Given the description of an element on the screen output the (x, y) to click on. 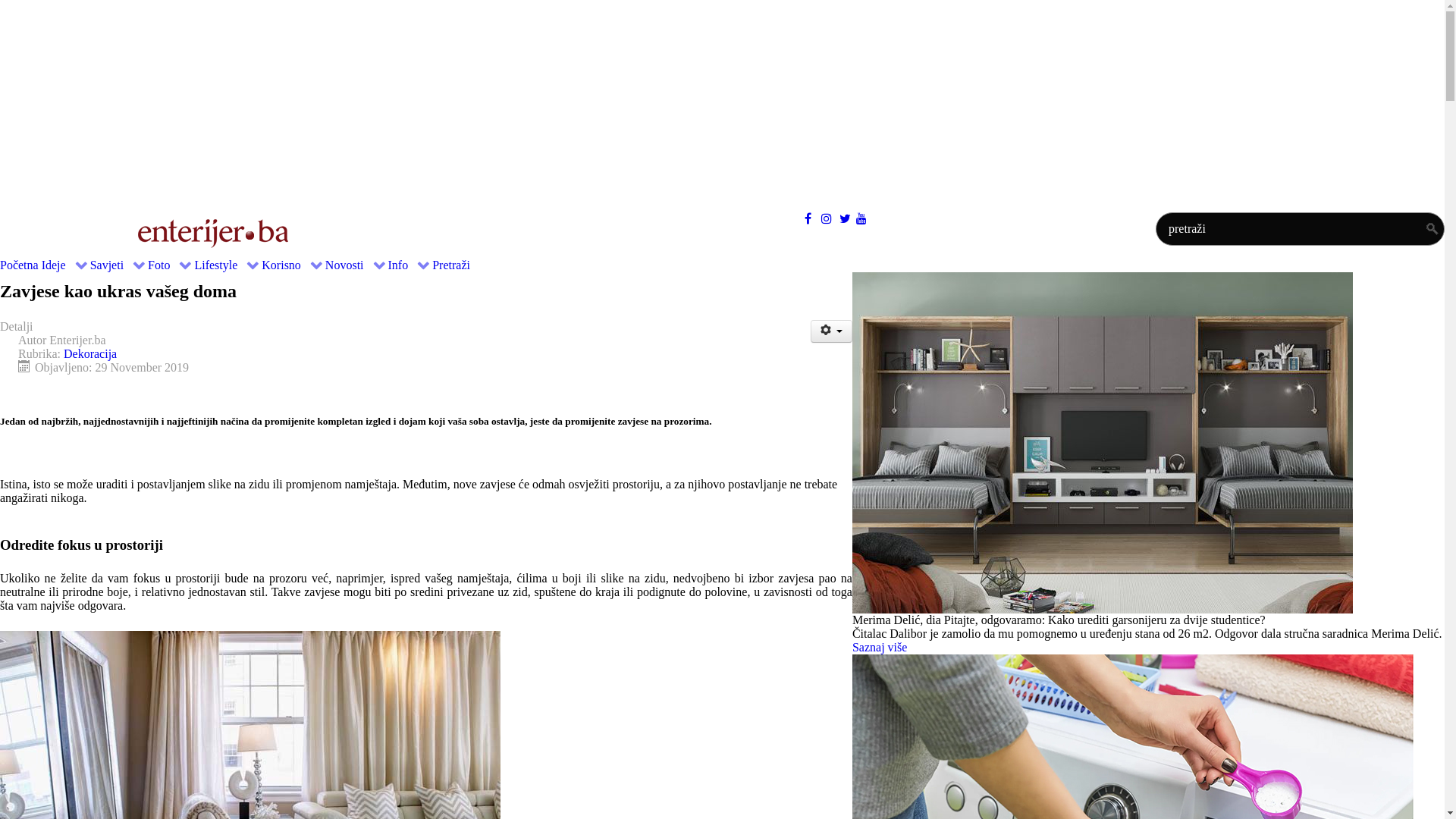
Foto Element type: text (169, 264)
Ideje Element type: text (64, 264)
Lifestyle Element type: text (226, 264)
Korisno Element type: text (291, 264)
Dekoracija Element type: text (89, 353)
Info Element type: text (408, 264)
Savjeti Element type: text (117, 264)
Novosti Element type: text (355, 264)
Advertisement Element type: hover (455, 106)
